Given the description of an element on the screen output the (x, y) to click on. 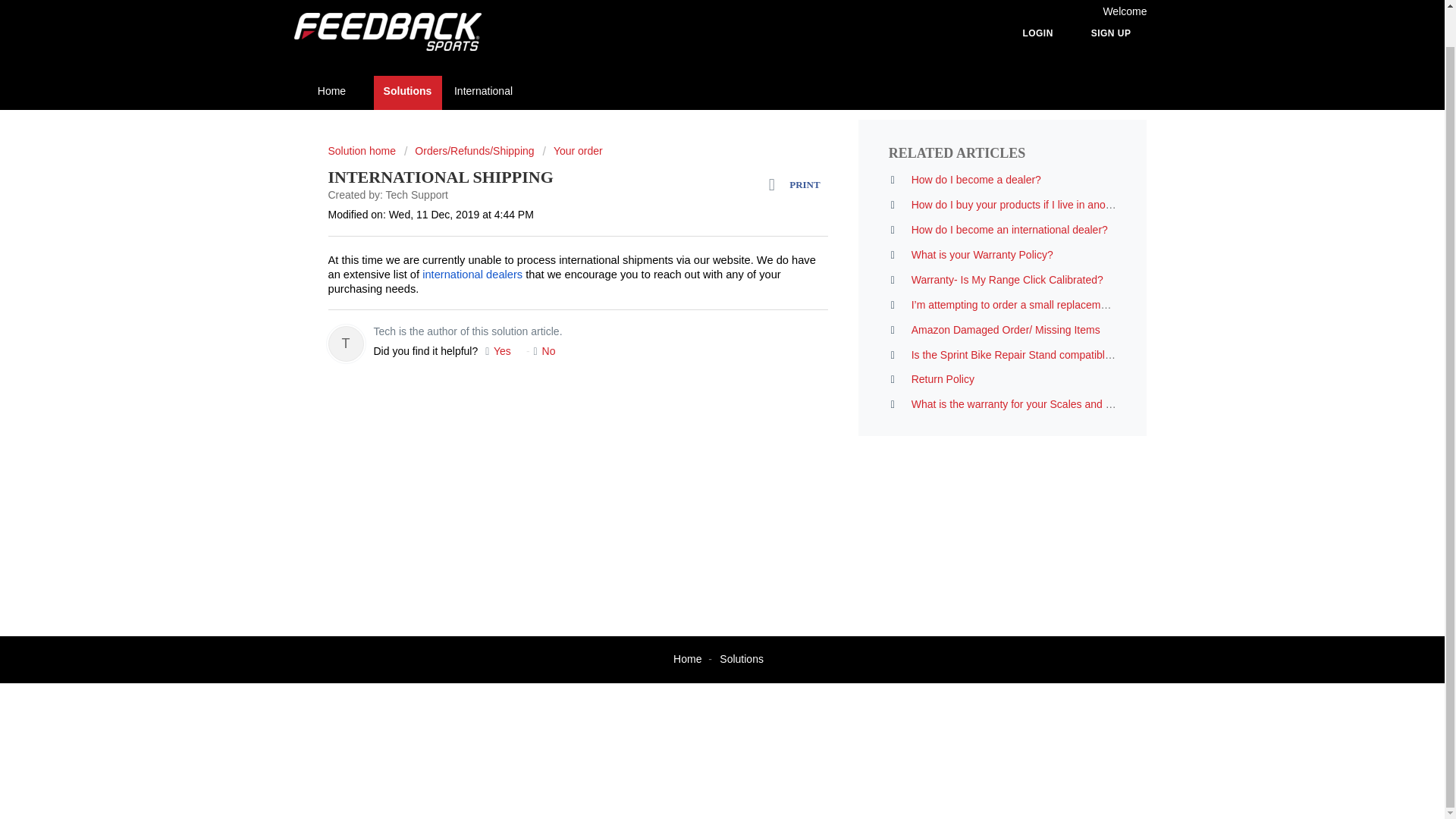
international dealers (472, 274)
SIGN UP (1111, 2)
New Support Ticket (775, 86)
LOGIN (1037, 2)
What is the warranty for your Scales and electronics? (1036, 404)
New support ticket (775, 86)
Chat (113, 757)
How do I become an international dealer? (1009, 229)
What is your Warranty Policy? (981, 254)
Return Policy (942, 378)
